Given the description of an element on the screen output the (x, y) to click on. 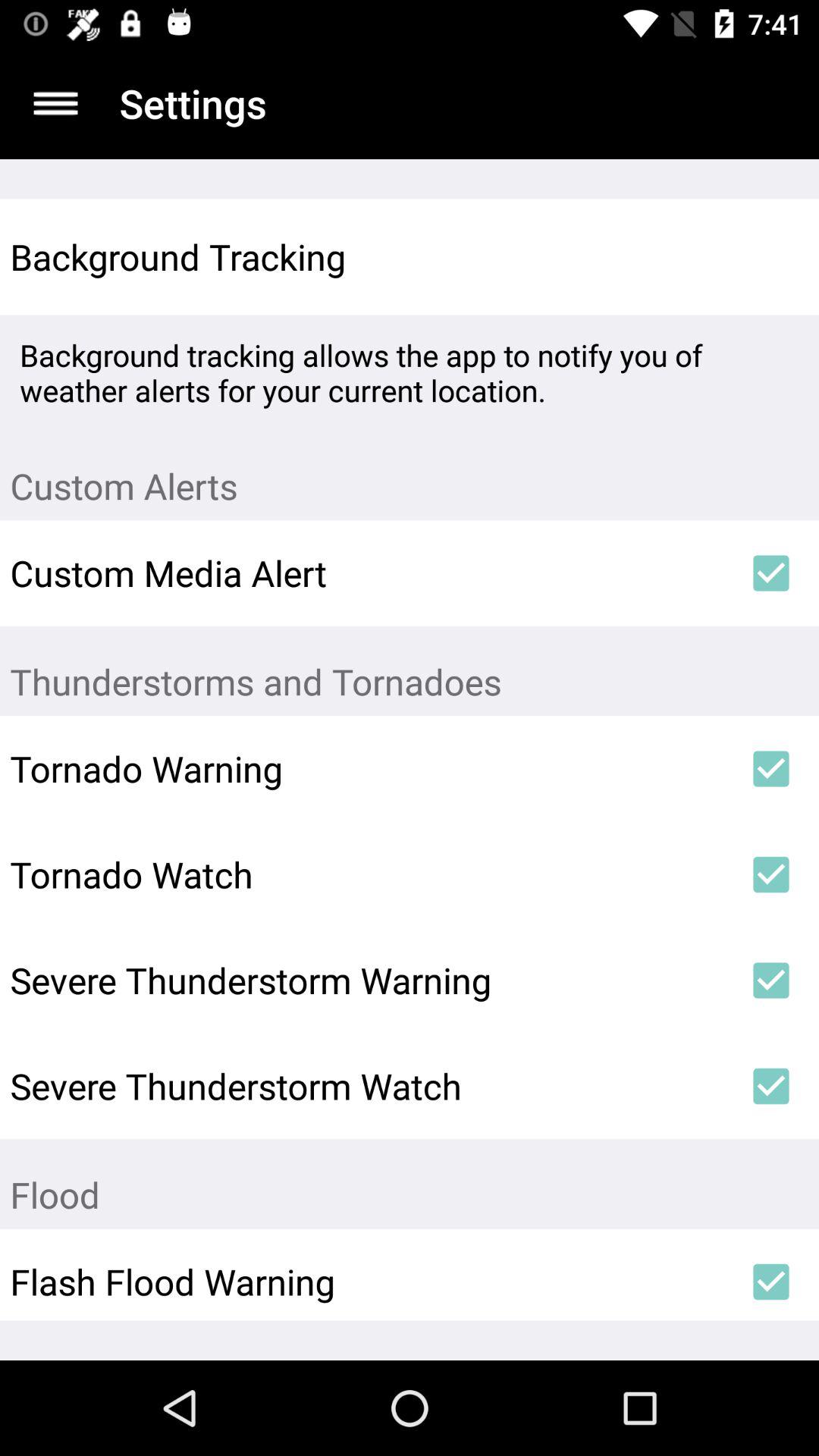
launch the item to the right of the tornado watch icon (771, 874)
